Given the description of an element on the screen output the (x, y) to click on. 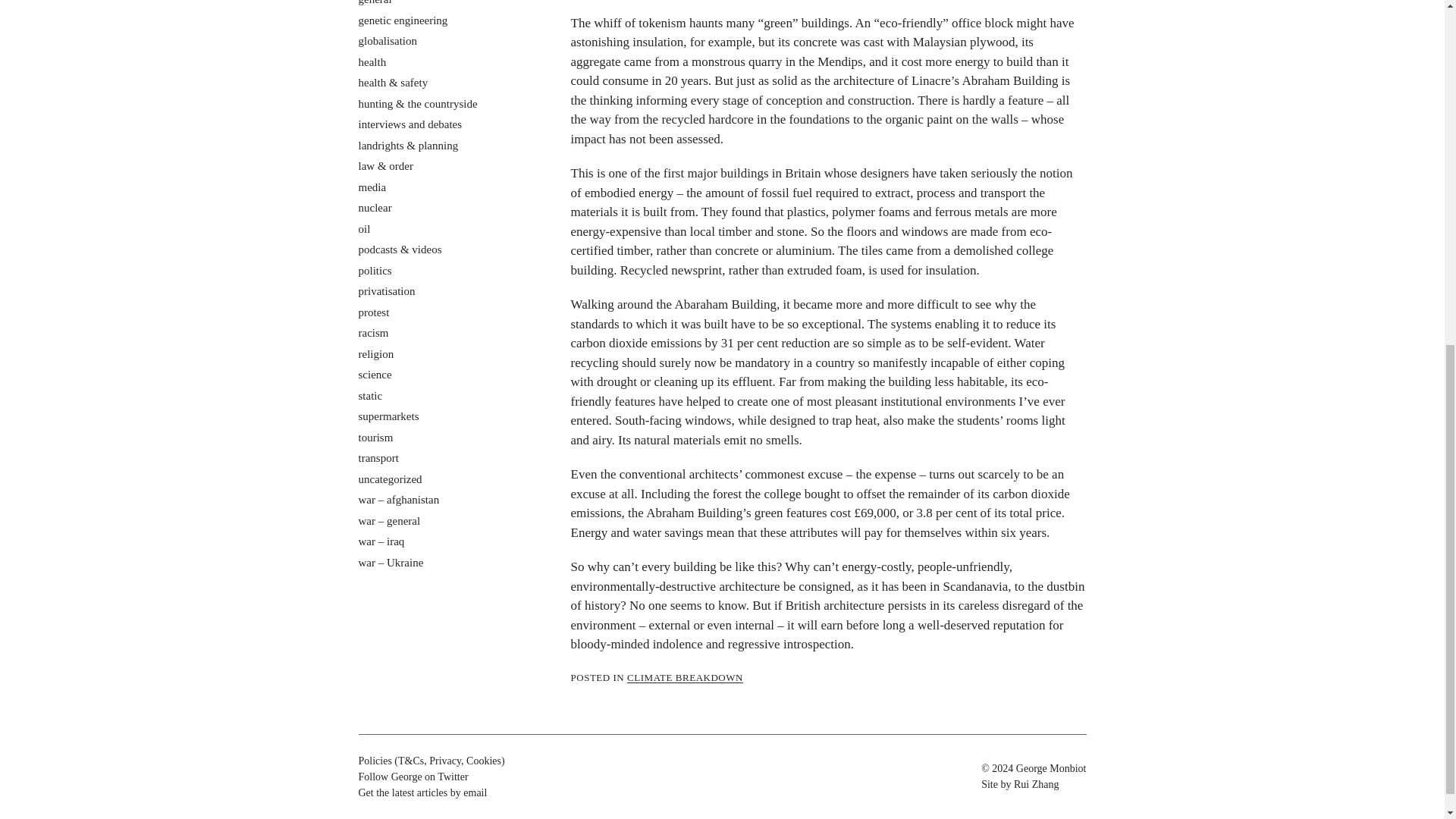
health (371, 61)
genetic engineering (402, 19)
interviews and debates (409, 123)
globalisation (387, 40)
CLIMATE BREAKDOWN (684, 677)
general (374, 2)
